Given the description of an element on the screen output the (x, y) to click on. 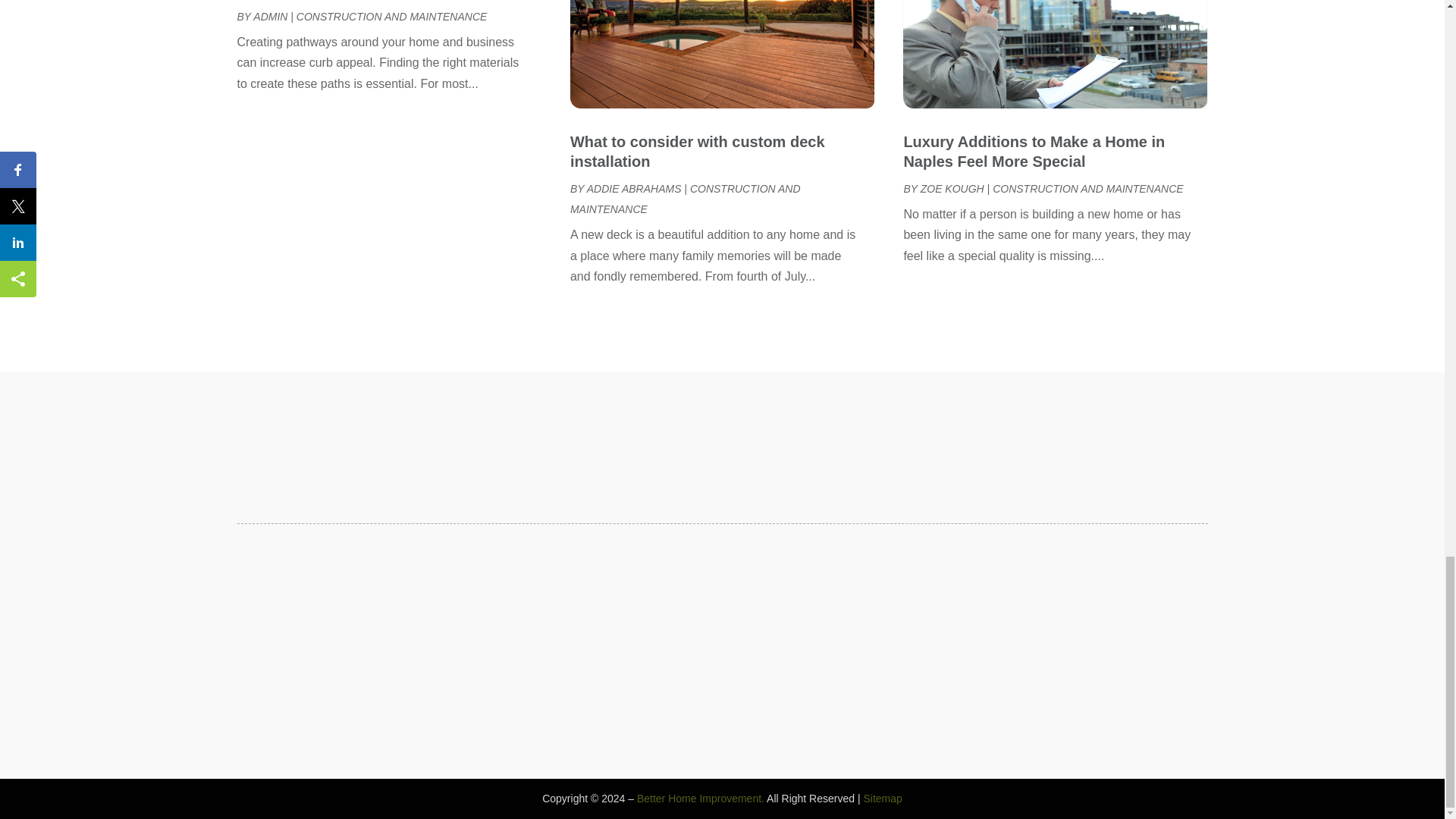
Posts by Zoe Kough (952, 188)
Posts by admin (269, 16)
Posts by Addie Abrahams (633, 188)
